Given the description of an element on the screen output the (x, y) to click on. 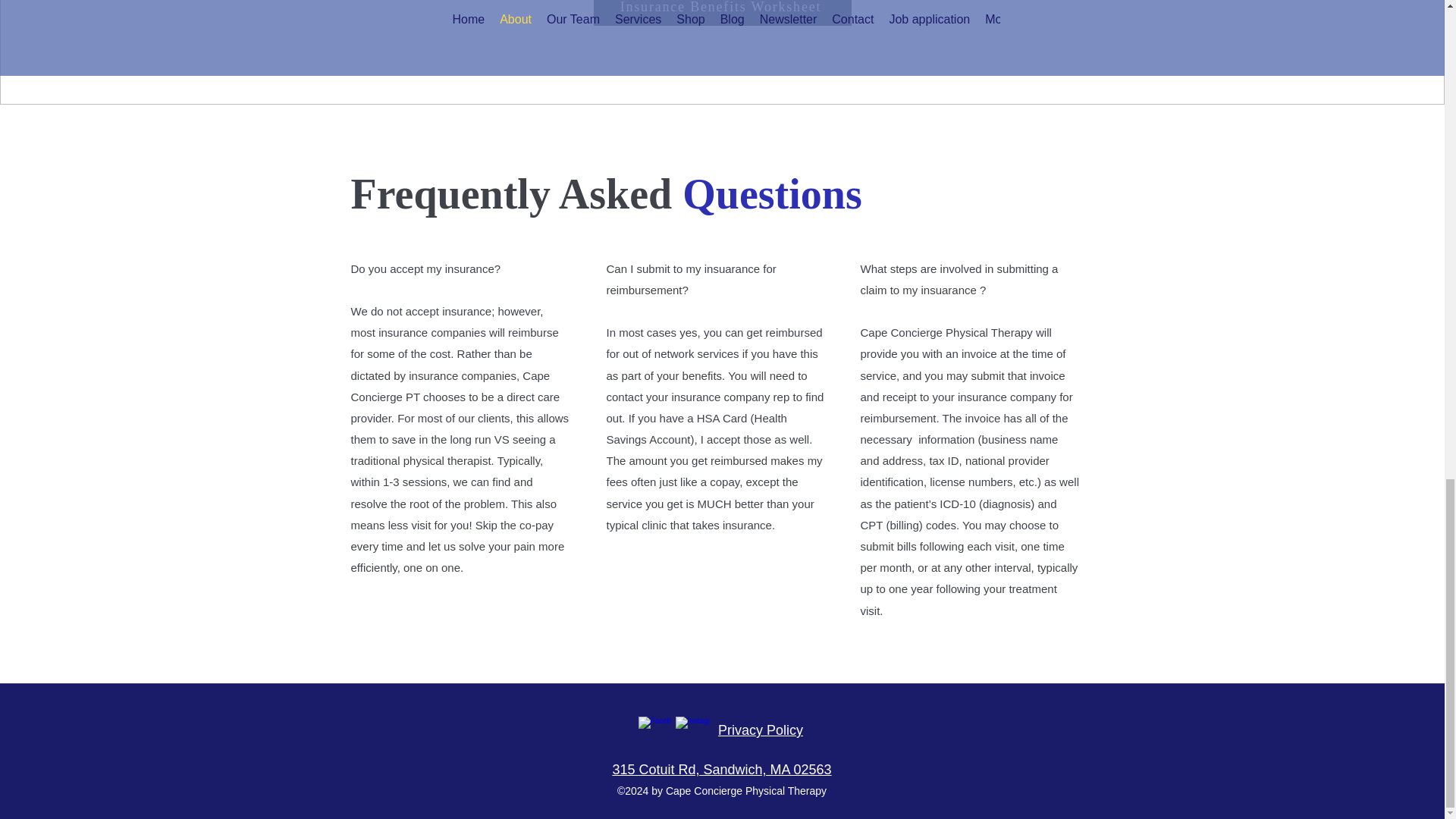
315 Cotuit Rd, Sandwich, MA 02563 (721, 769)
Privacy Policy (760, 729)
Insurance Benefits Worksheet (721, 12)
